Given the description of an element on the screen output the (x, y) to click on. 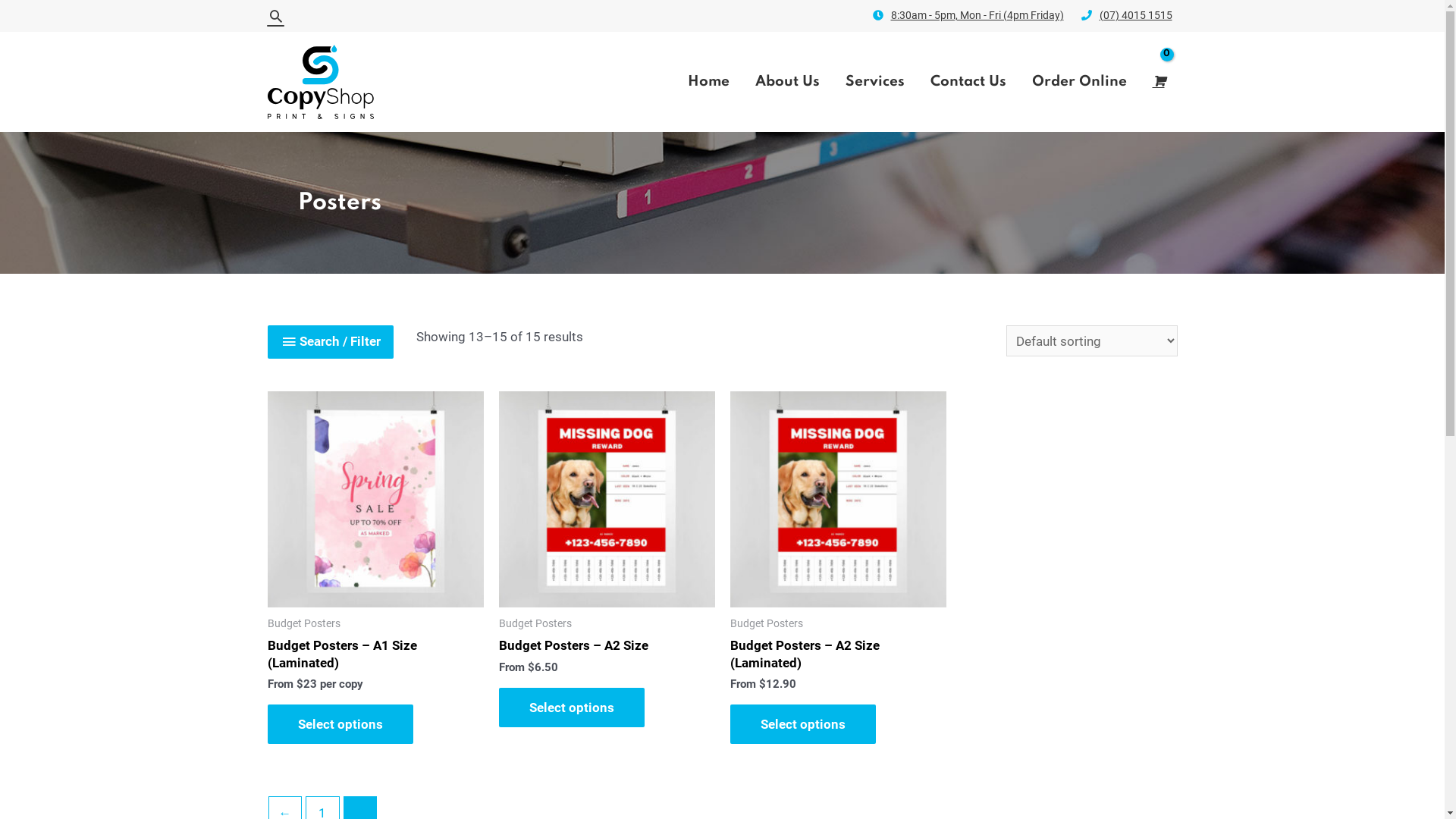
Select options Element type: text (571, 707)
About Us Element type: text (786, 81)
Select options Element type: text (802, 723)
8:30am - 5pm, Mon - Fri (4pm Friday) Element type: text (975, 15)
Select options Element type: text (339, 723)
Services Element type: text (874, 81)
Home Element type: text (708, 81)
Order Online Element type: text (1079, 81)
Search / Filter Element type: text (329, 341)
Contact Us Element type: text (968, 81)
View your shopping cart Element type: hover (1158, 81)
(07) 4015 1515 Element type: text (1126, 15)
